Given the description of an element on the screen output the (x, y) to click on. 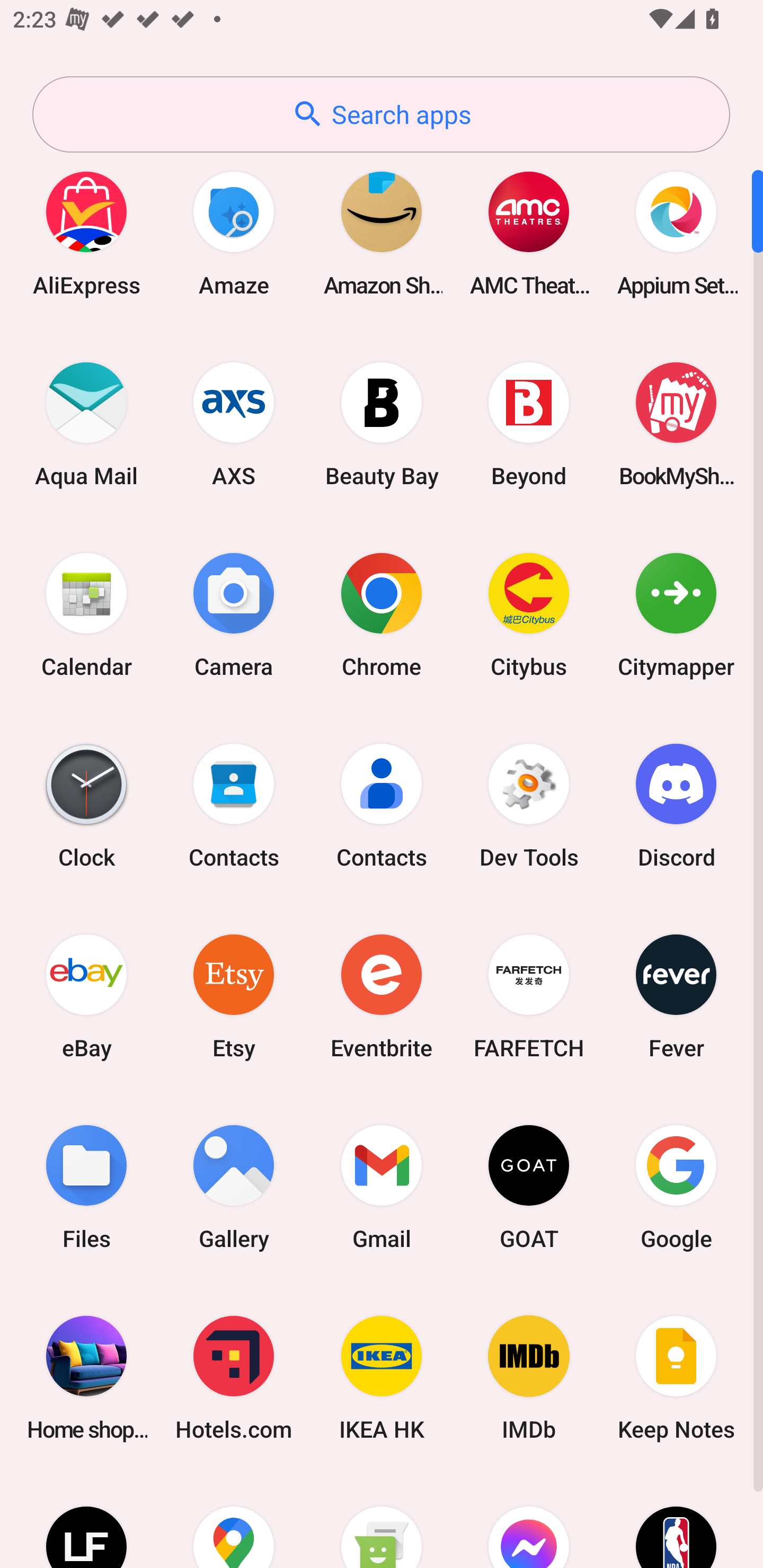
Citymapper (676, 614)
